Given the description of an element on the screen output the (x, y) to click on. 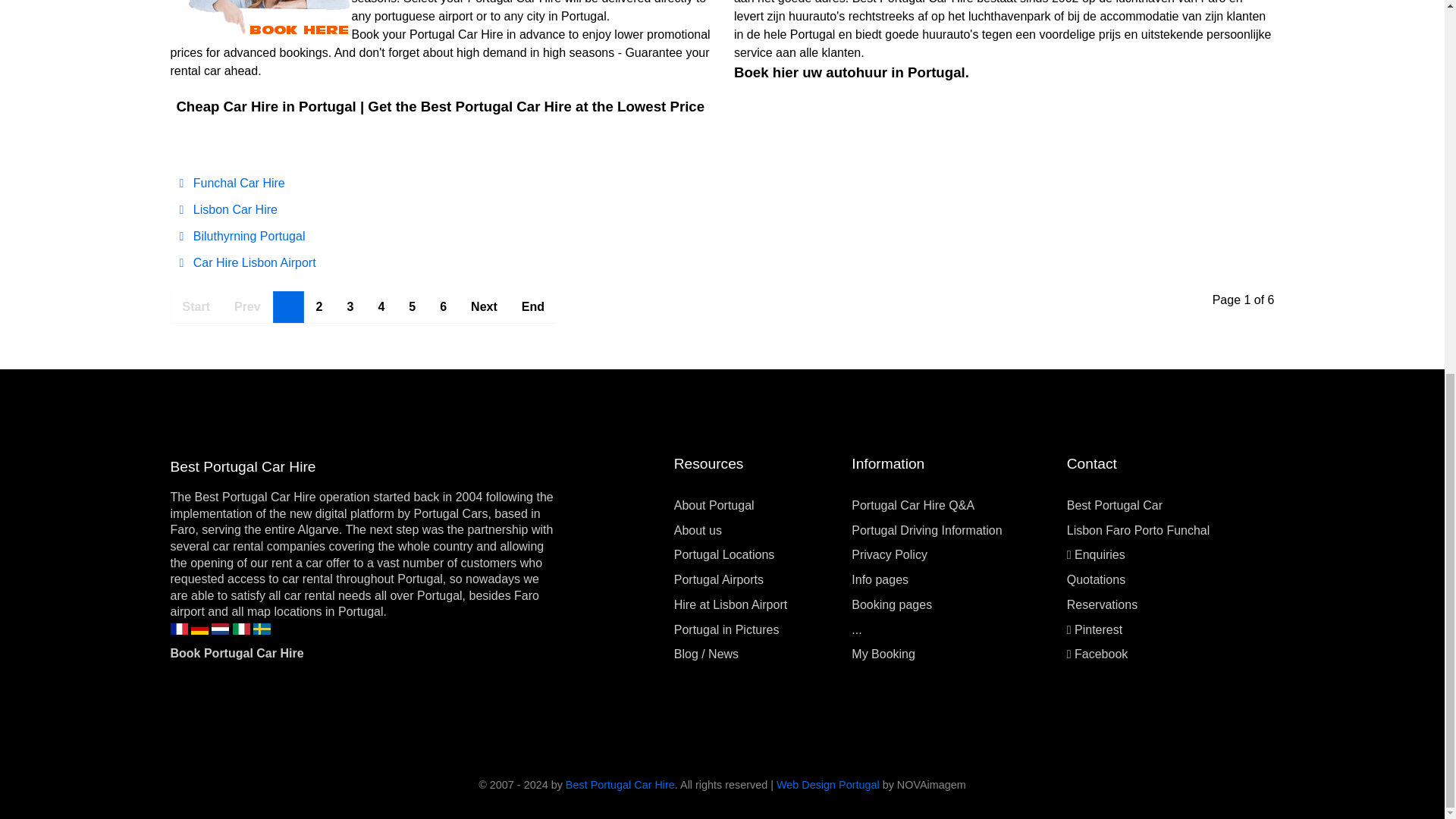
Info pages (879, 579)
Portugal Airports (718, 579)
4 (380, 306)
Best Portugal Car (1114, 504)
Booking pages (891, 604)
Portugal Locations (724, 554)
5 (412, 306)
Hire at Lisbon Airport (730, 604)
Portugal (439, 594)
3 (349, 306)
Privacy Policy (889, 554)
Portugal Driving Information (926, 530)
2 (319, 306)
About Portugal (714, 504)
Portugal in Pictures (726, 629)
